Given the description of an element on the screen output the (x, y) to click on. 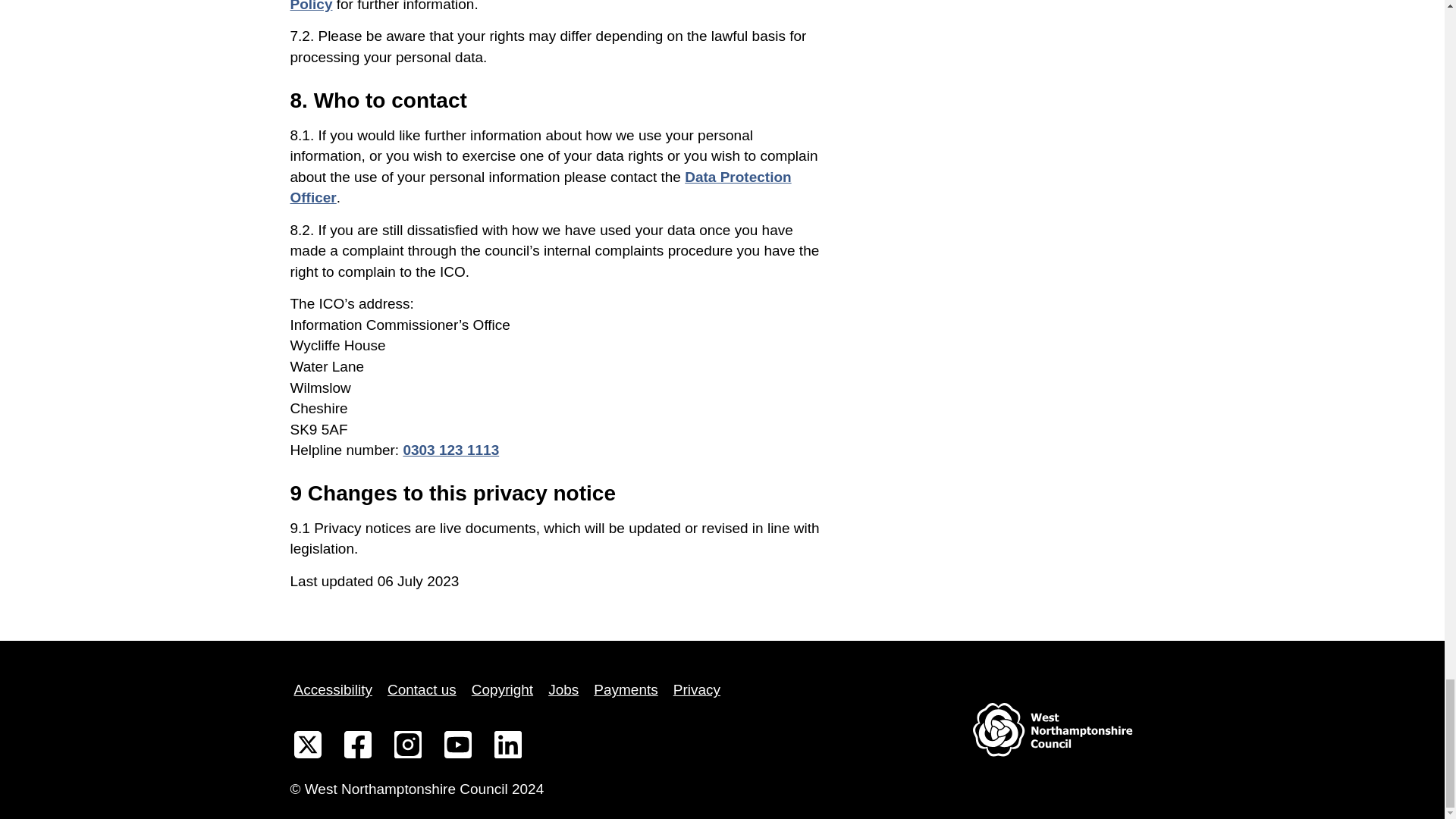
Accessibility (332, 689)
Privacy (696, 689)
Jobs (563, 689)
Payments (625, 689)
Data Protection Officer (539, 187)
Contact us (422, 689)
Privacy Policy (549, 6)
Copyright (502, 689)
0303 123 1113 (451, 449)
